Given the description of an element on the screen output the (x, y) to click on. 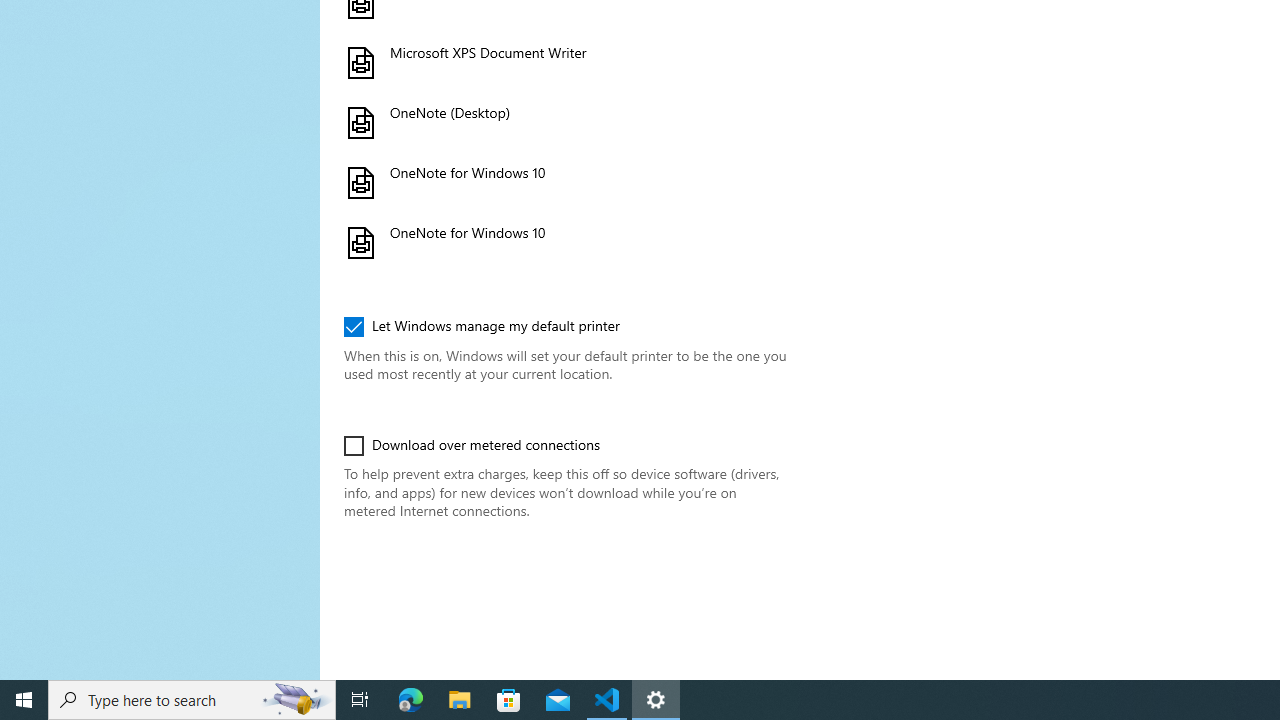
Microsoft XPS Document Writer (563, 62)
OneNote (Desktop) (563, 122)
Let Windows manage my default printer (481, 326)
Download over metered connections (472, 445)
OneNote for Windows 10 (563, 242)
